Given the description of an element on the screen output the (x, y) to click on. 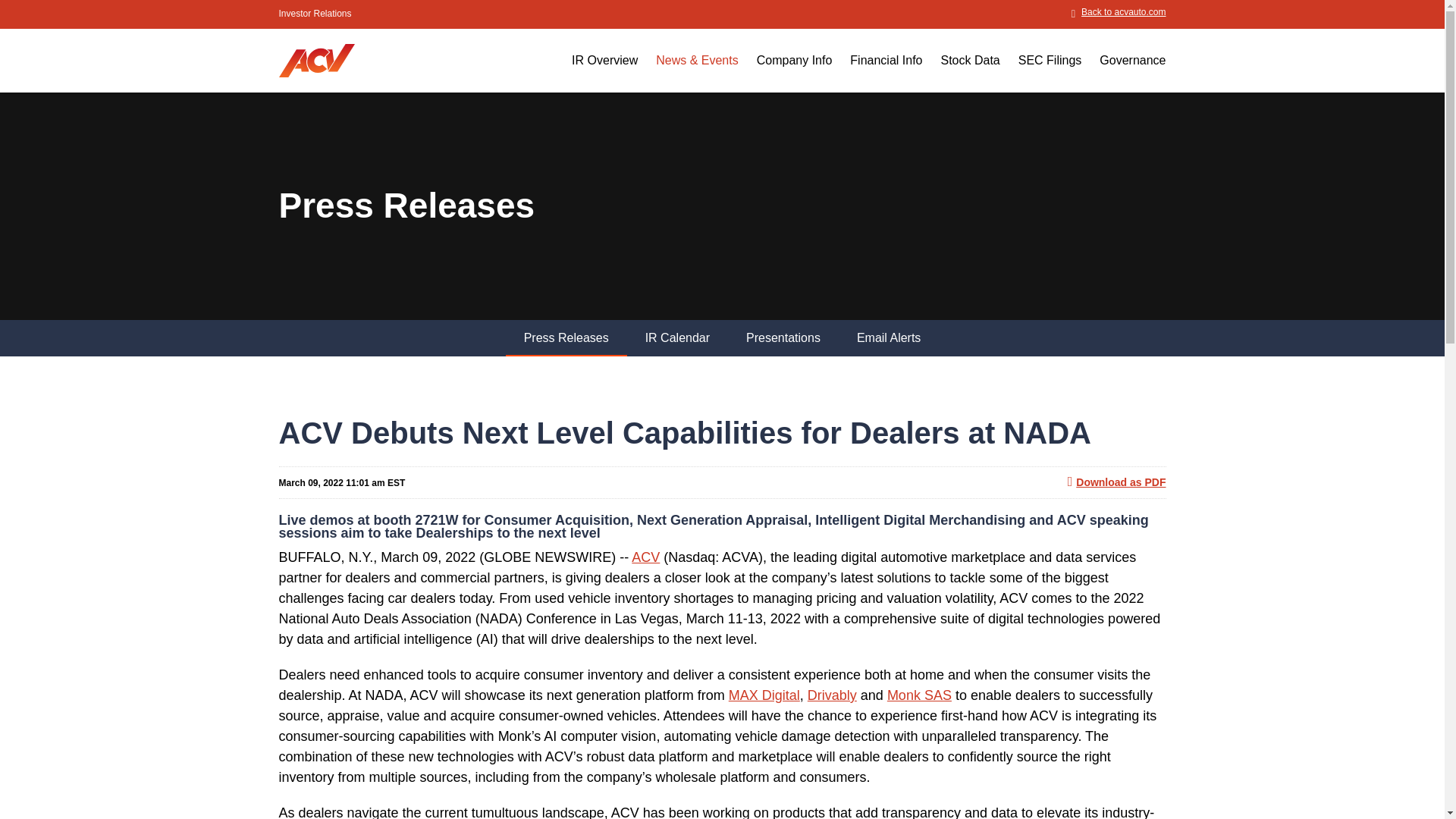
IR Overview (604, 71)
Opens in a new window (832, 694)
Stock Data (970, 71)
Opens in a new window (1118, 10)
Main Navigation (864, 60)
PDF: ACV Debuts Next Level Capabilities for Dealers at NADA (1116, 482)
Opens in a new window (764, 694)
Governance (1128, 71)
SEC Filings (1049, 71)
Back to acvauto.com (1118, 10)
